Given the description of an element on the screen output the (x, y) to click on. 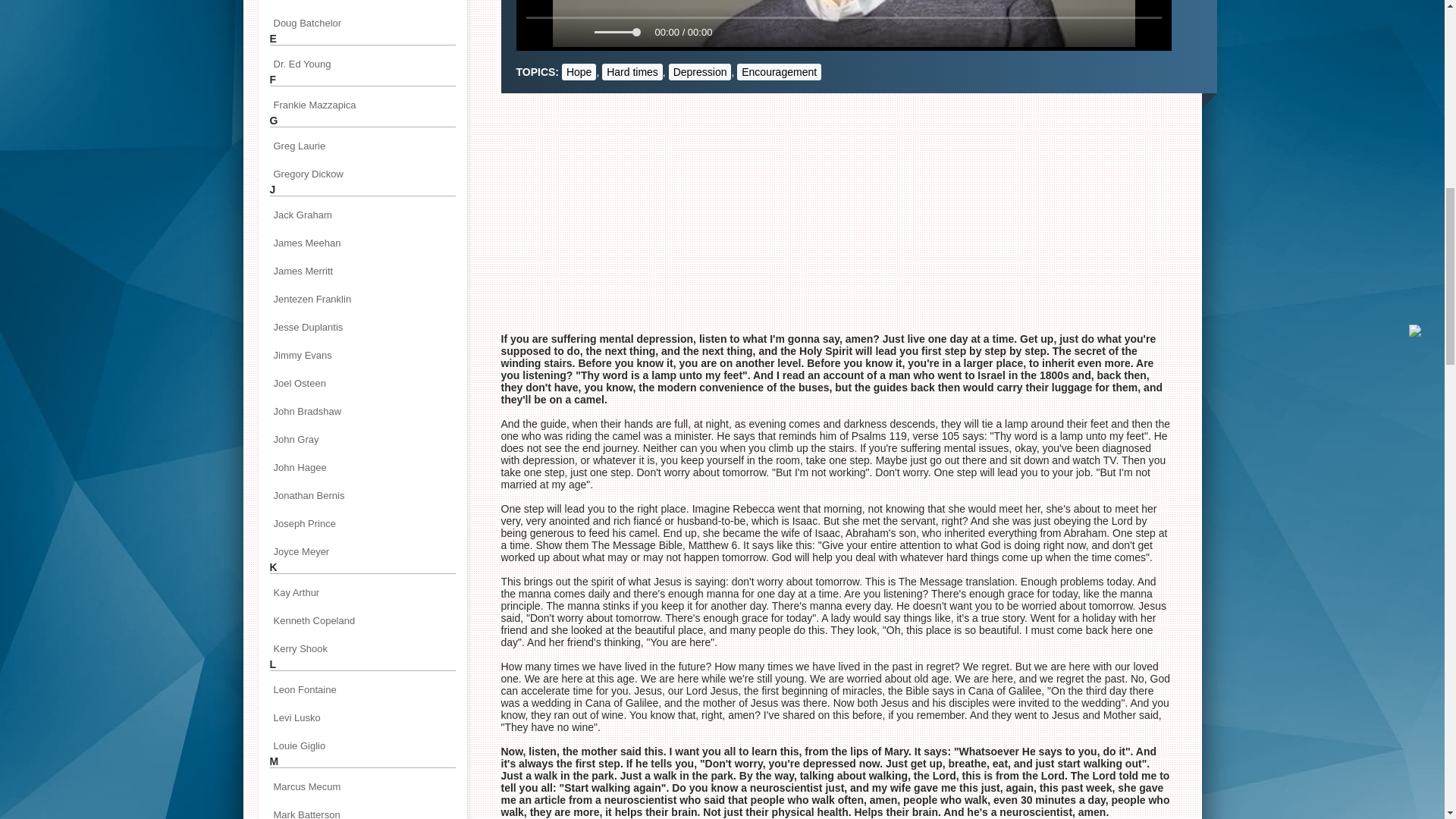
Encouragement (778, 71)
Hard times (632, 71)
Depression (700, 71)
Hope (578, 71)
